Given the description of an element on the screen output the (x, y) to click on. 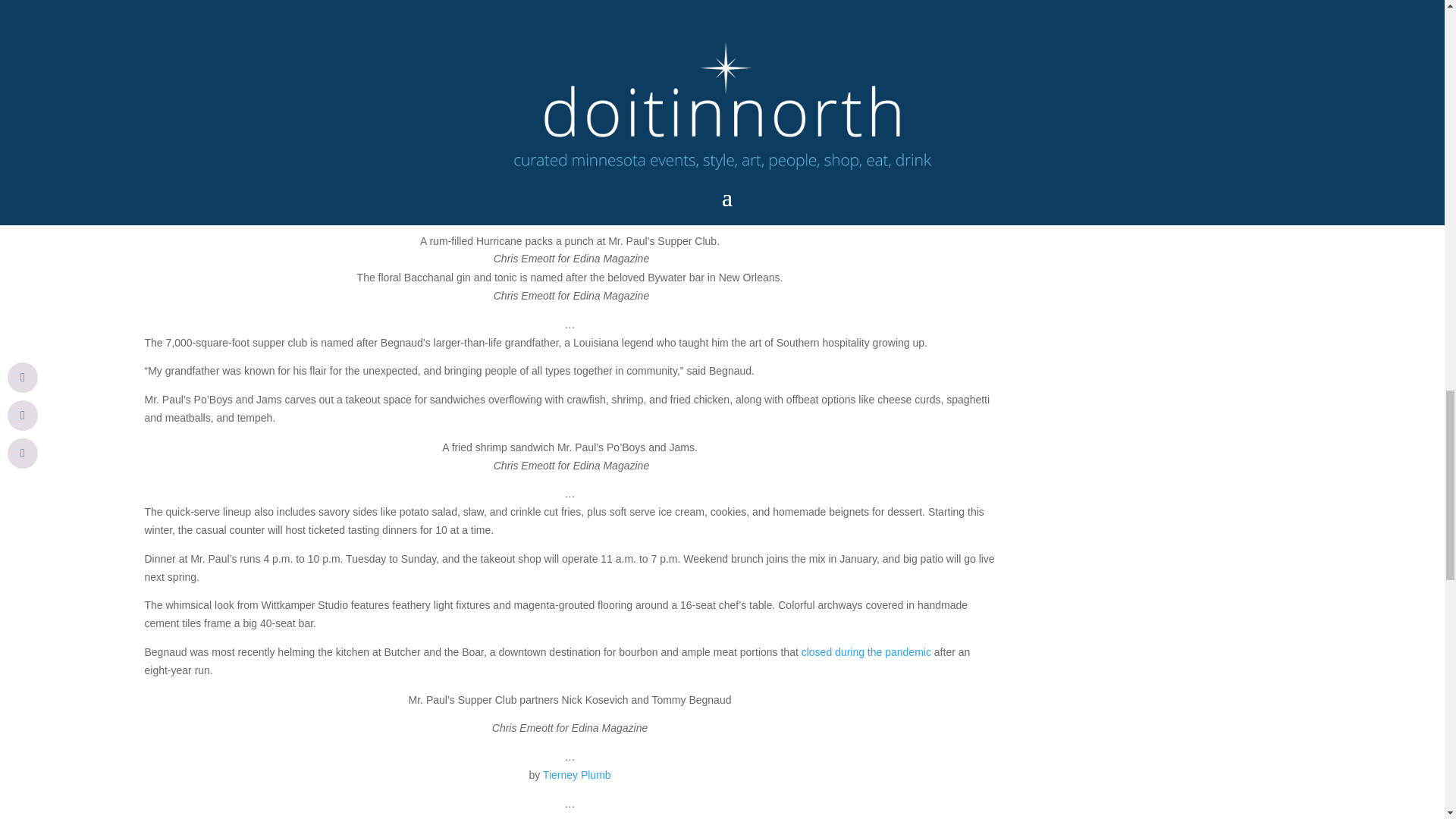
Tierney Plumb (577, 775)
already-bustling corner (609, 193)
closed during the pandemic (866, 652)
